Given the description of an element on the screen output the (x, y) to click on. 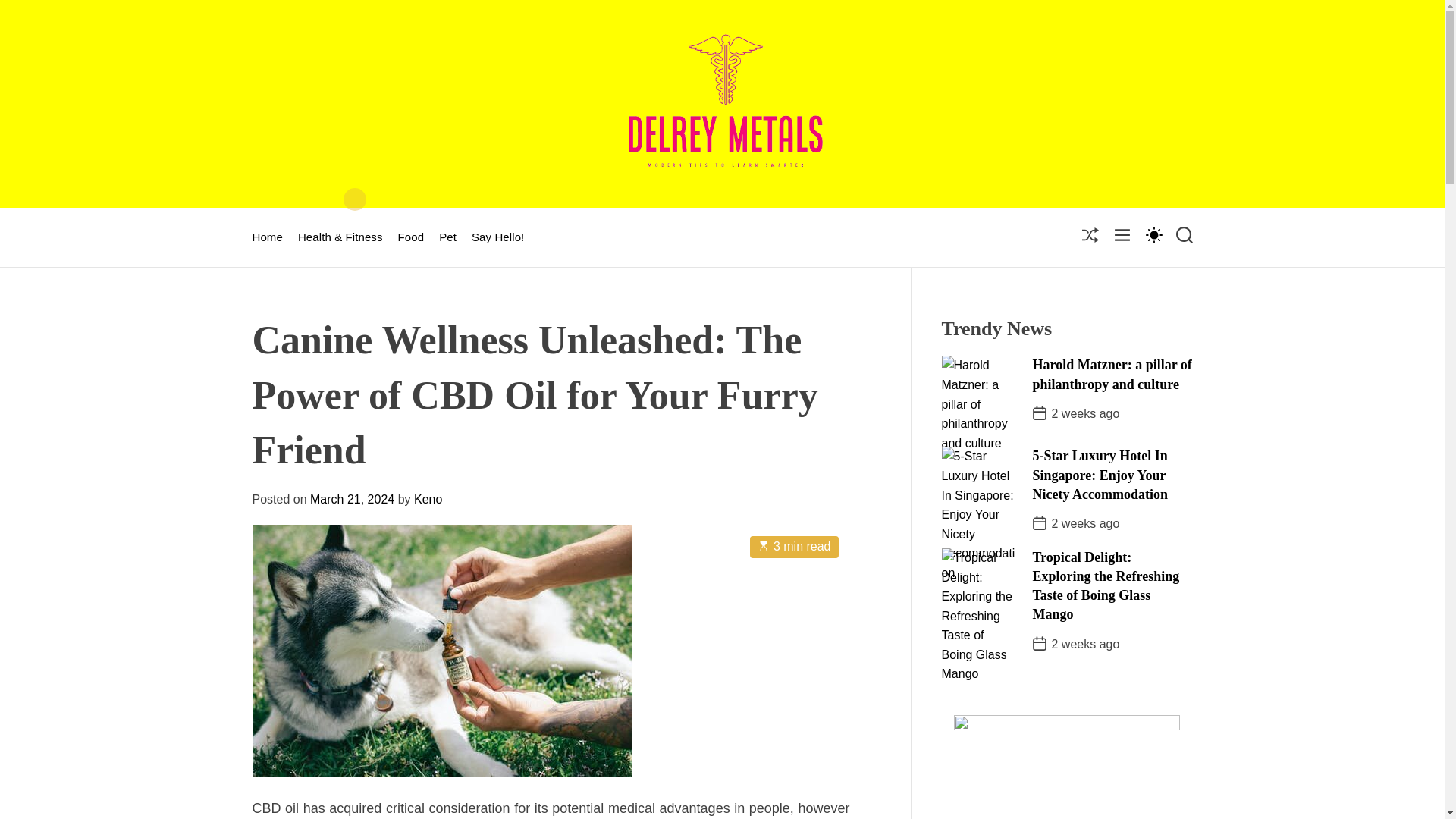
March 21, 2024 (352, 499)
Home (266, 236)
Food (411, 236)
SWITCH COLOR MODE (1152, 233)
Say Hello! (497, 236)
Keno (427, 499)
